Given the description of an element on the screen output the (x, y) to click on. 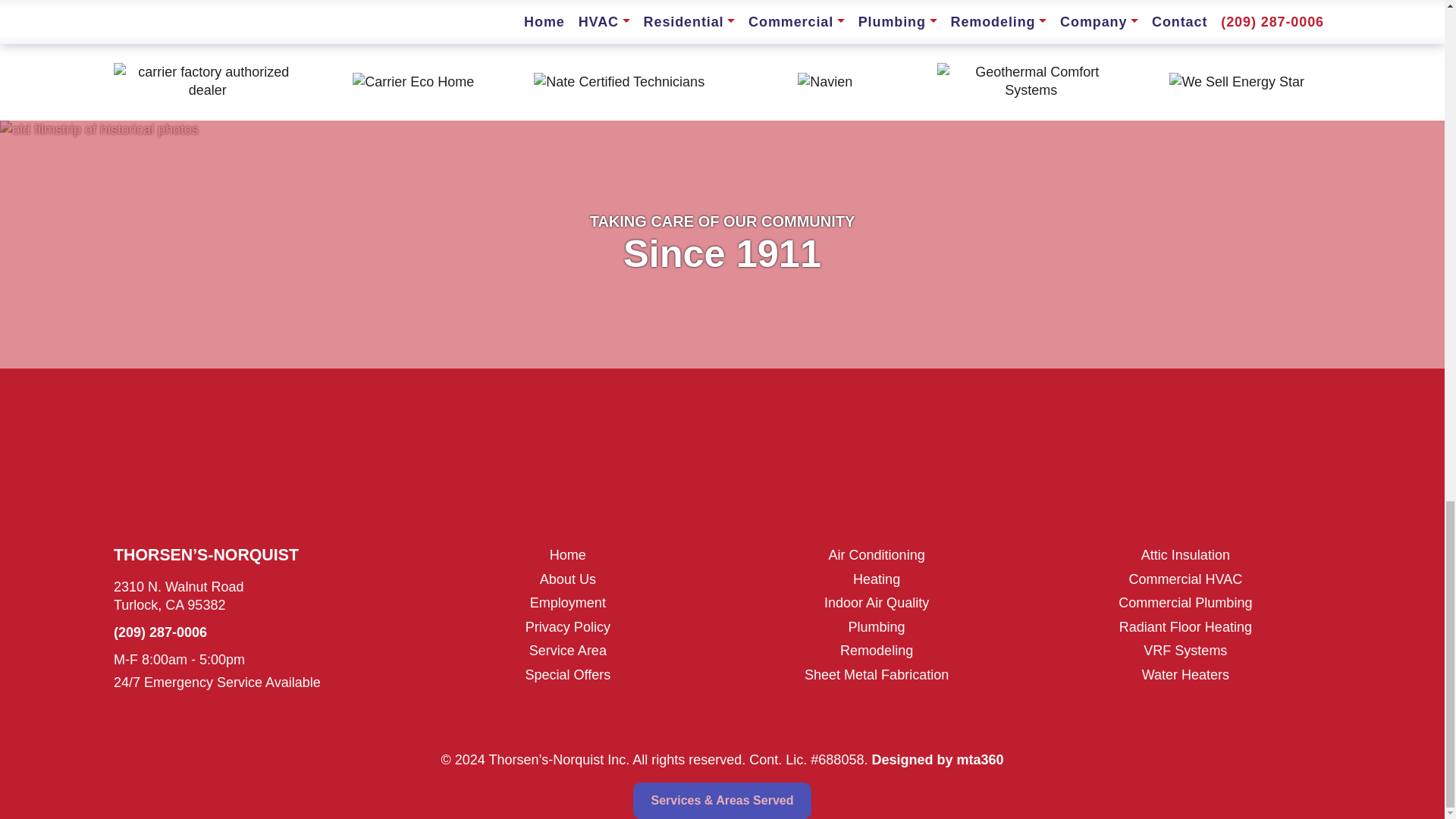
Website Designed by mta360 (936, 760)
